Given the description of an element on the screen output the (x, y) to click on. 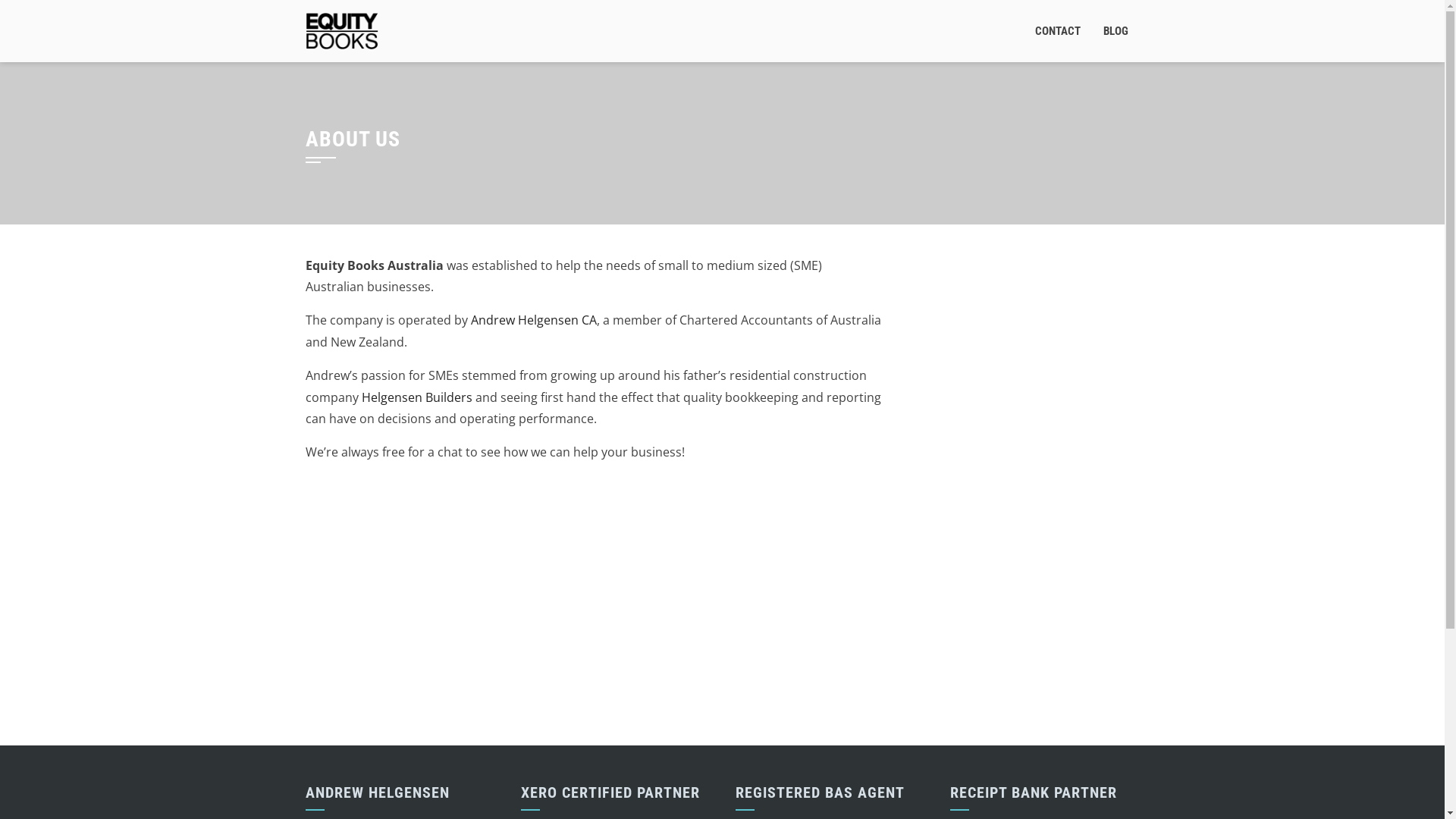
Helgensen Builders Element type: text (415, 397)
CONTACT Element type: text (1057, 31)
Andrew Helgensen CA Element type: text (533, 319)
BLOG Element type: text (1115, 31)
